Given the description of an element on the screen output the (x, y) to click on. 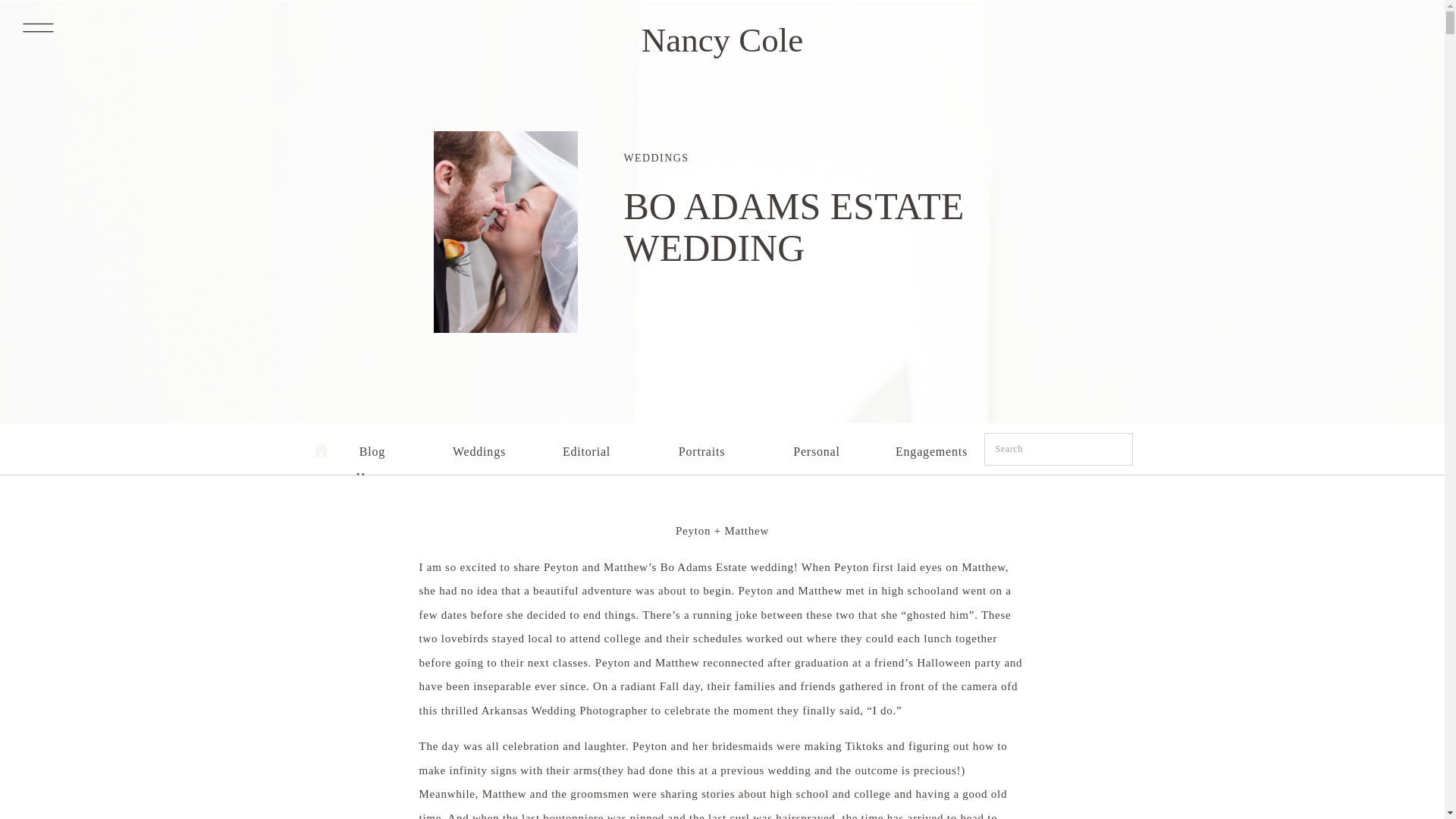
Blog Home (372, 446)
Engagements (932, 446)
Portraits (700, 446)
Weddings (478, 446)
Editorial (586, 446)
Personal (816, 446)
Nancy Cole (722, 33)
WEDDINGS (655, 157)
